Given the description of an element on the screen output the (x, y) to click on. 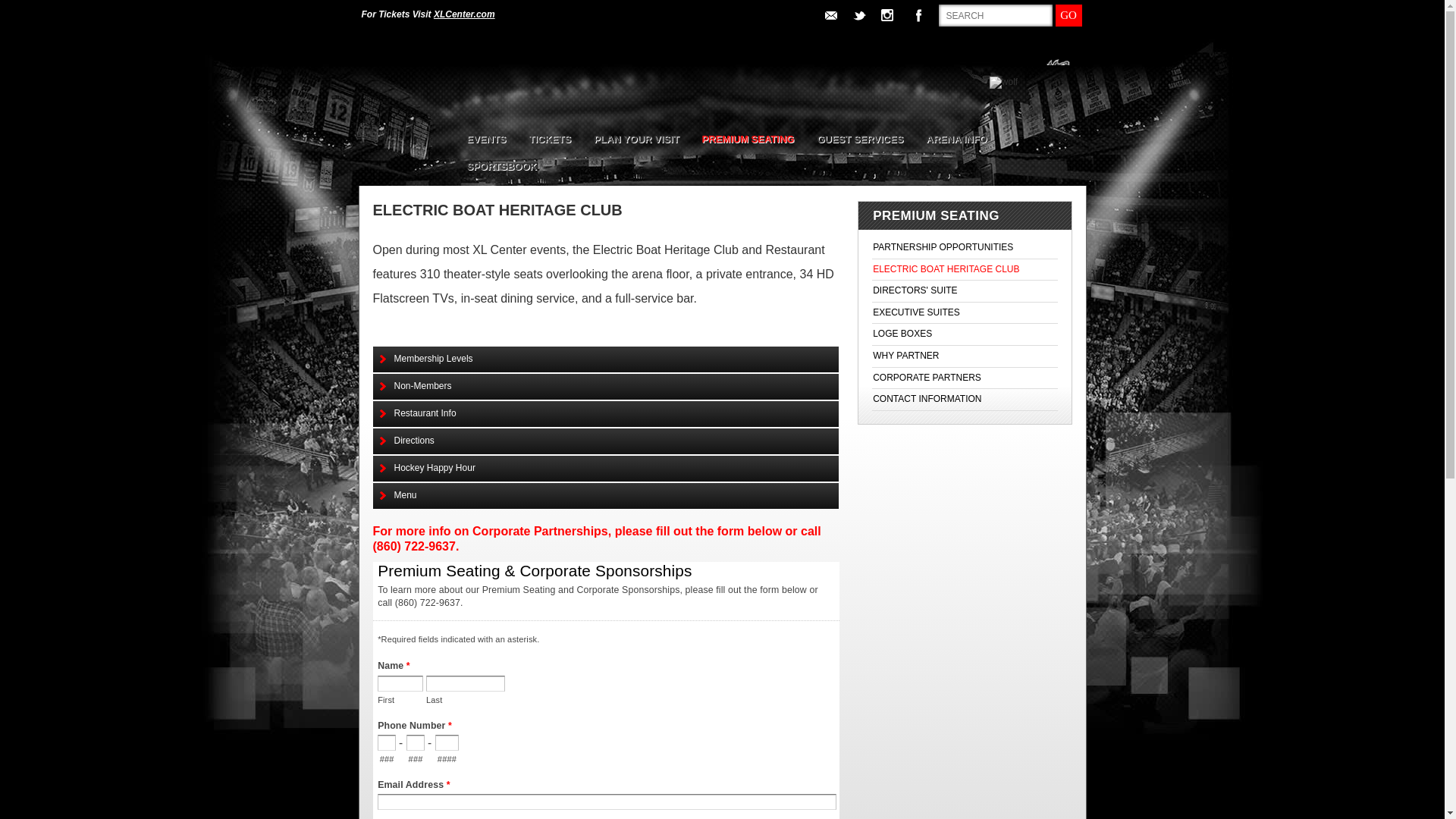
XLCenter.com (464, 14)
EVENTS (485, 144)
Home (407, 103)
twitter (859, 15)
PLAN YOUR VISIT (636, 144)
Instagram (889, 17)
Embedded Wufoo Form (606, 690)
Email (831, 15)
Sign Up for our Email Newsletter (831, 15)
XL CENTER (407, 103)
